Given the description of an element on the screen output the (x, y) to click on. 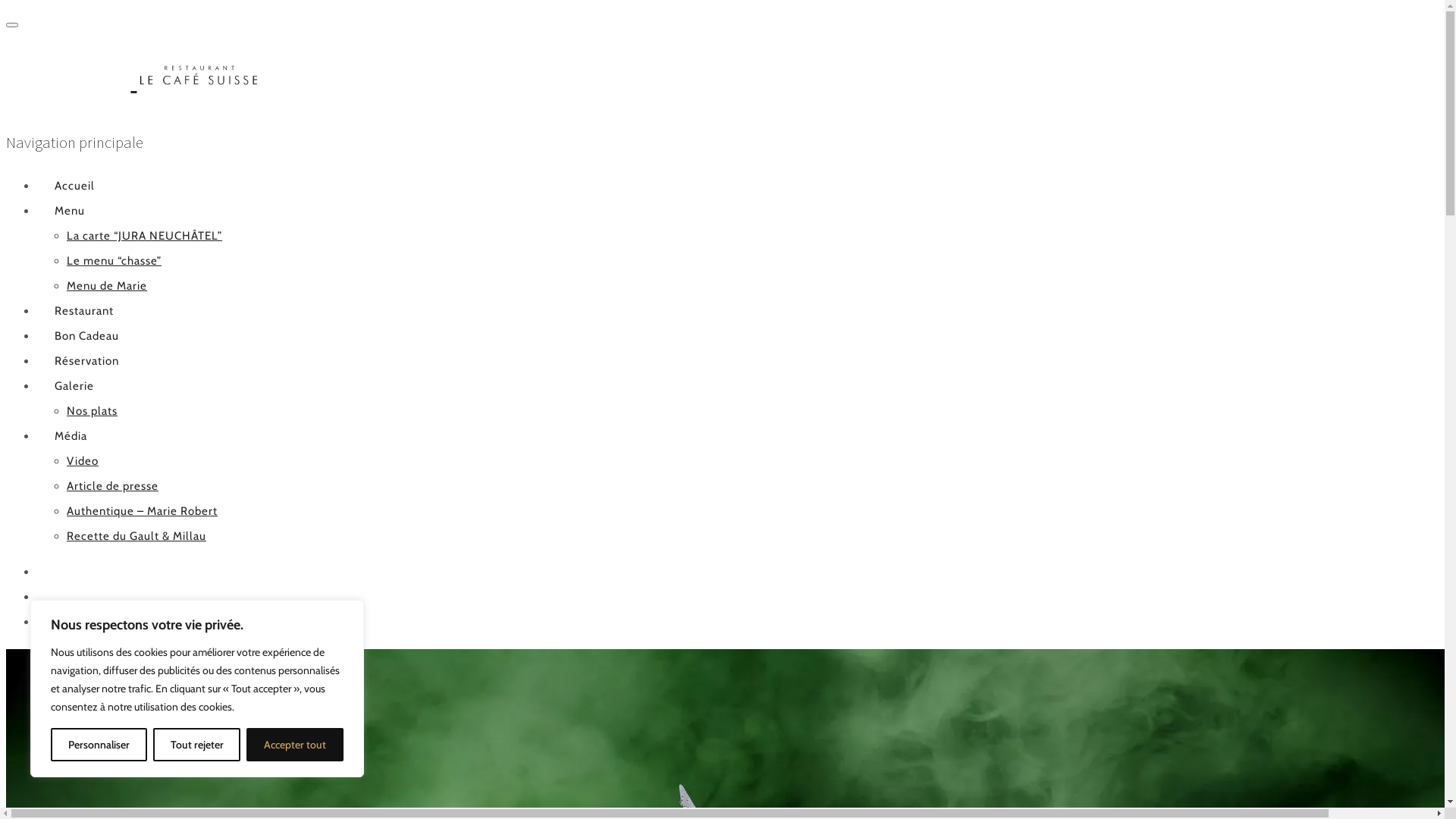
Facebook Element type: text (54, 596)
Restaurant Element type: text (83, 309)
Bon Cadeau Element type: text (86, 335)
Menu de Marie Element type: text (106, 285)
Galerie Element type: text (74, 385)
Twitter Element type: text (54, 570)
Accueil Element type: text (74, 185)
Tout rejeter Element type: text (197, 744)
Menu Element type: text (69, 209)
Nos plats Element type: text (91, 410)
Article de presse Element type: text (112, 485)
Recette du Gault & Millau Element type: text (136, 535)
Personnaliser Element type: text (98, 744)
Le Cafe Suisse Element type: hover (133, 79)
Instagram Element type: text (54, 620)
Video Element type: text (82, 460)
Accepter tout Element type: text (294, 744)
